Given the description of an element on the screen output the (x, y) to click on. 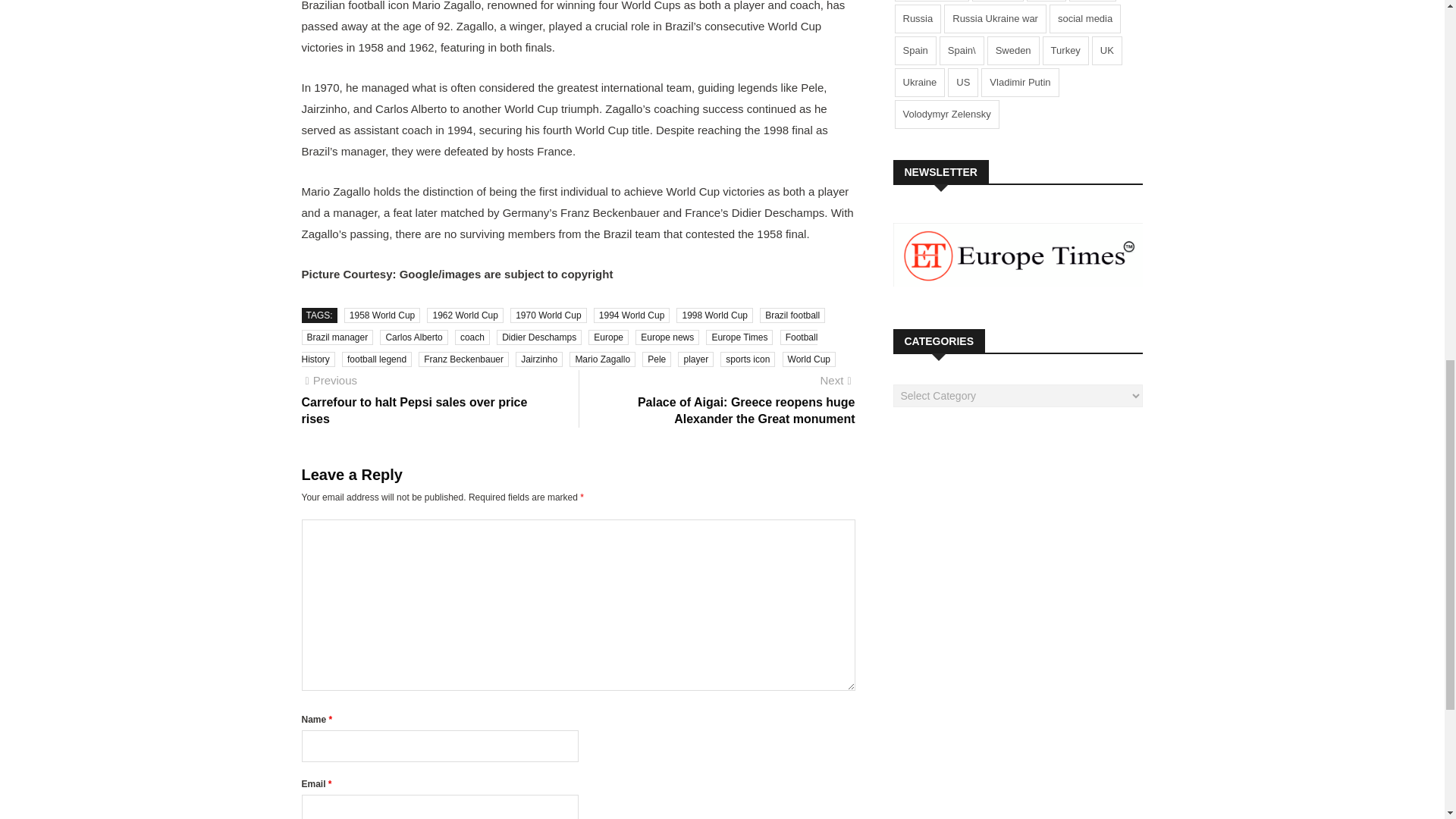
1958 World Cup (381, 314)
1962 World Cup (464, 314)
